Given the description of an element on the screen output the (x, y) to click on. 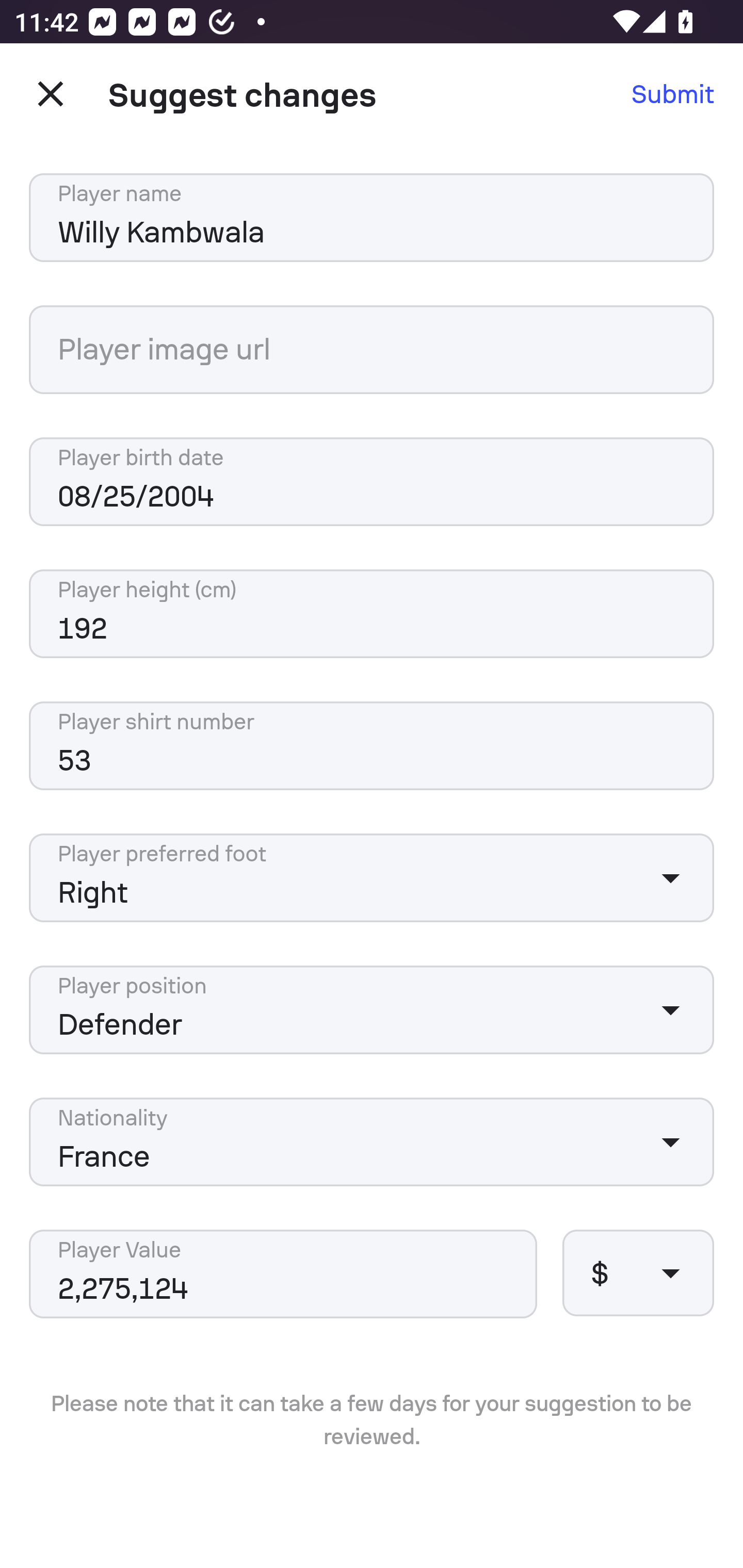
Submit (672, 93)
Willy Kambwala (371, 217)
Player image url (371, 349)
08/25/2004 (371, 481)
192 (371, 613)
53 (371, 745)
Right (371, 877)
Show dropdown menu (670, 877)
Defender (371, 1009)
Show dropdown menu (670, 1009)
France (371, 1141)
Show dropdown menu (670, 1142)
2,275,124 (282, 1273)
$ (638, 1272)
Show dropdown menu (670, 1272)
